Given the description of an element on the screen output the (x, y) to click on. 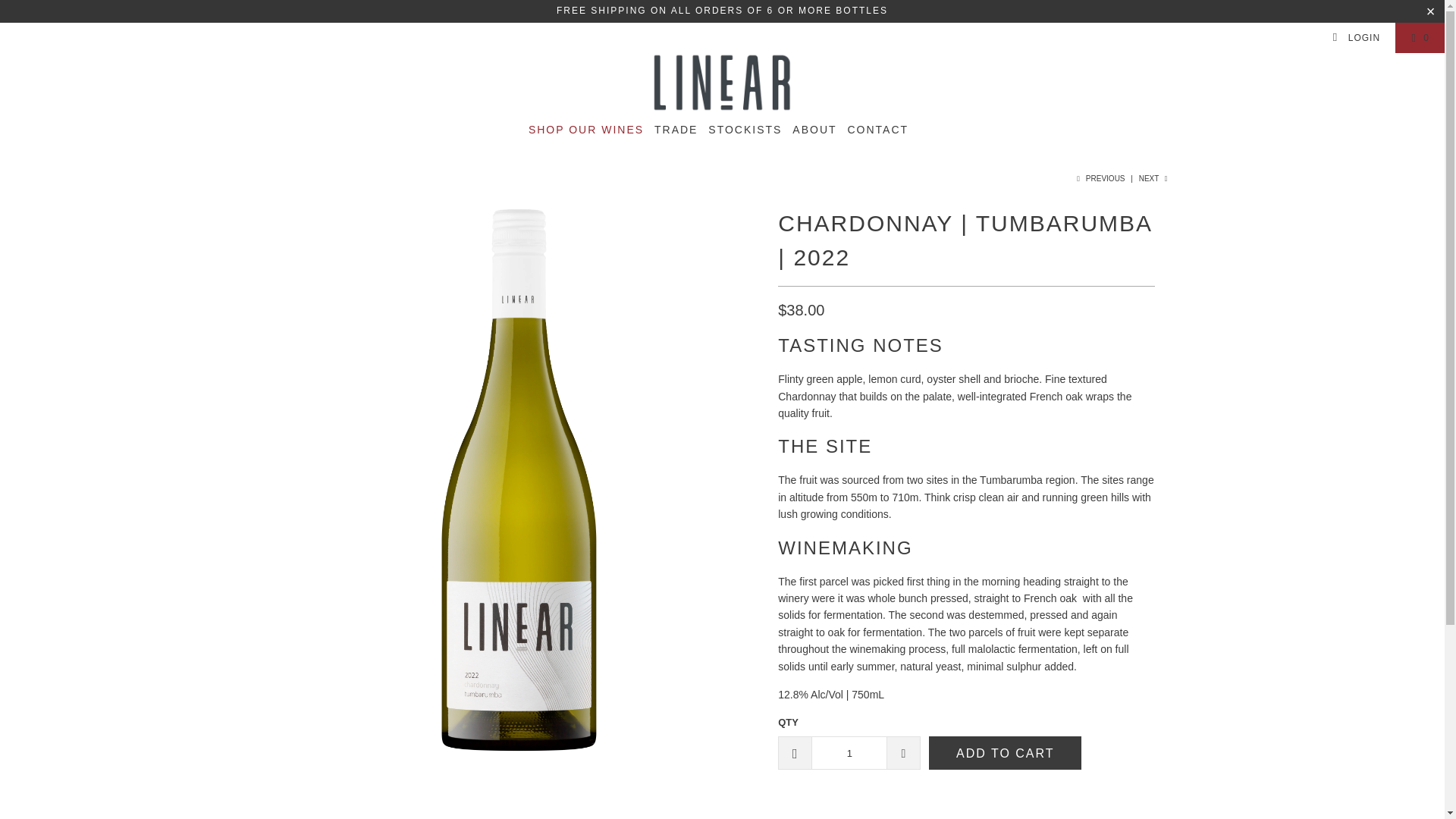
SHOP OUR WINES (585, 130)
LOGIN (1355, 37)
PREVIOUS (1099, 178)
STOCKISTS (744, 130)
ABOUT (813, 130)
ADD TO CART (1004, 752)
Previous (1099, 178)
CONTACT (877, 130)
Next (1154, 178)
1 (848, 752)
